Given the description of an element on the screen output the (x, y) to click on. 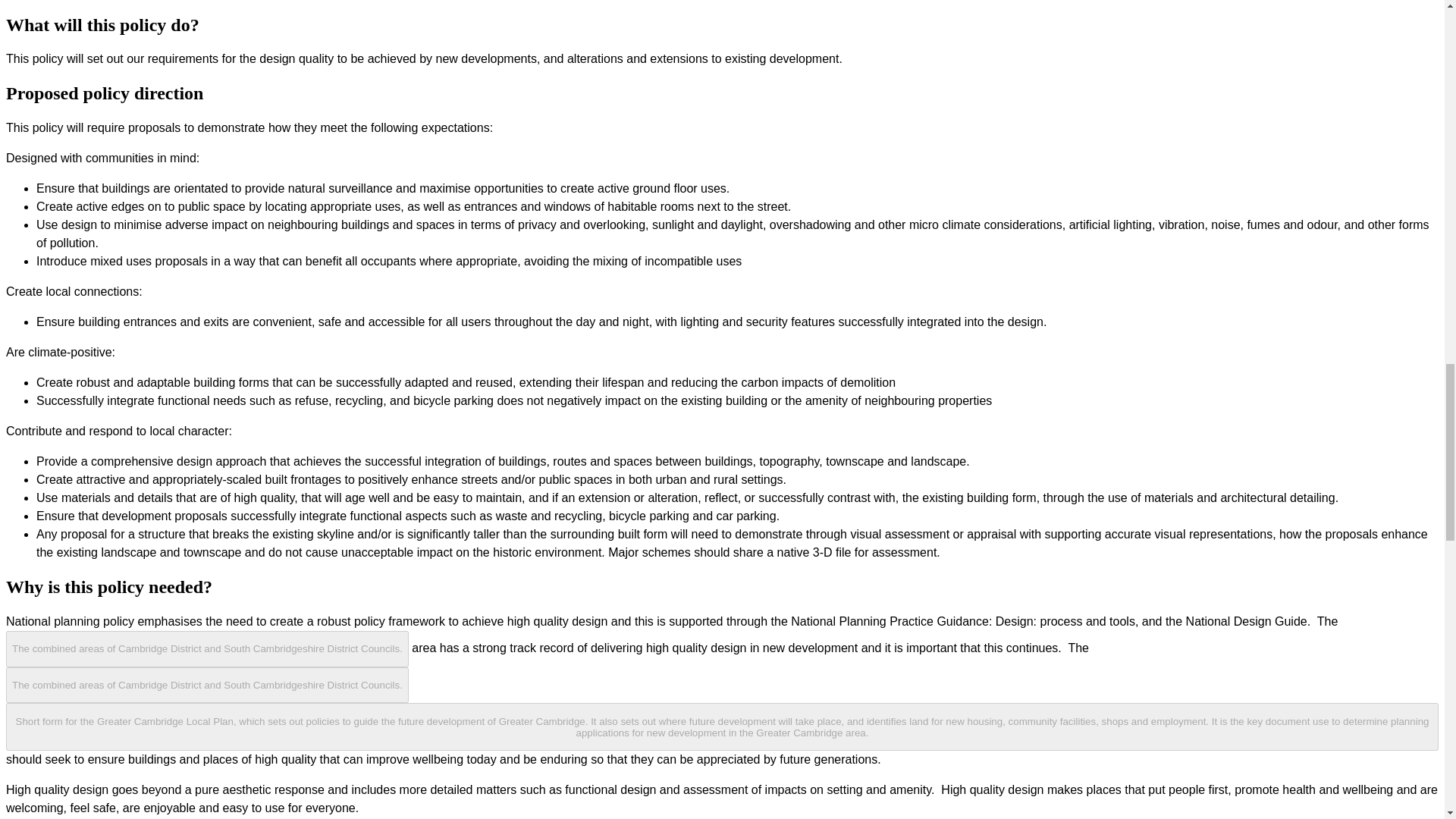
Greater Cambridge (208, 647)
Greater Cambridge (207, 684)
